Given the description of an element on the screen output the (x, y) to click on. 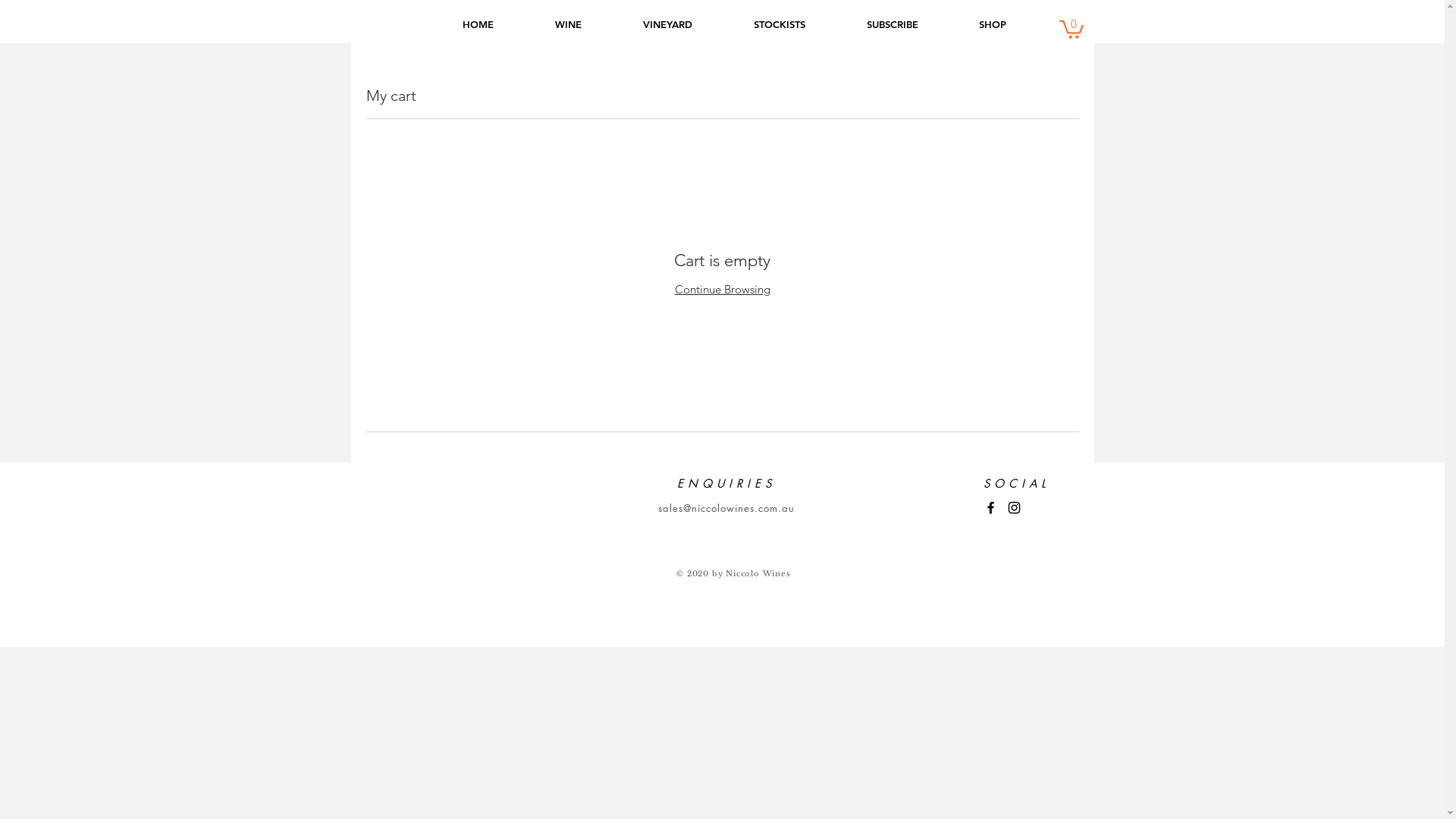
Continue Browsing Element type: text (722, 289)
VINEYARD Element type: text (667, 23)
WINE Element type: text (568, 23)
SHOP Element type: text (991, 23)
STOCKISTS Element type: text (779, 23)
sales@niccolowines.com.au Element type: text (726, 507)
SUBSCRIBE Element type: text (891, 23)
0 Element type: text (1070, 28)
HOME Element type: text (478, 23)
